Given the description of an element on the screen output the (x, y) to click on. 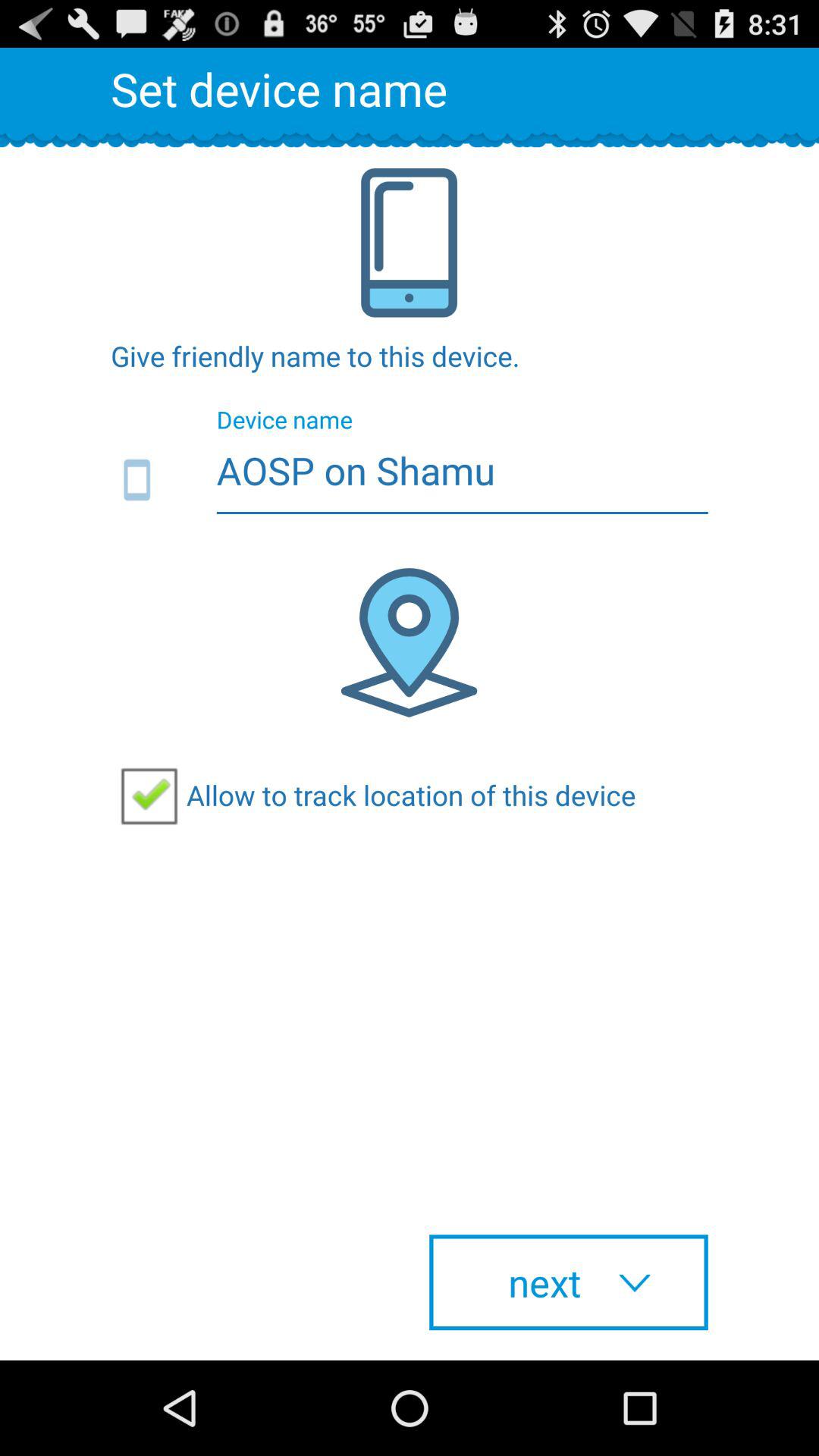
click checkbox below allow to track item (568, 1282)
